Given the description of an element on the screen output the (x, y) to click on. 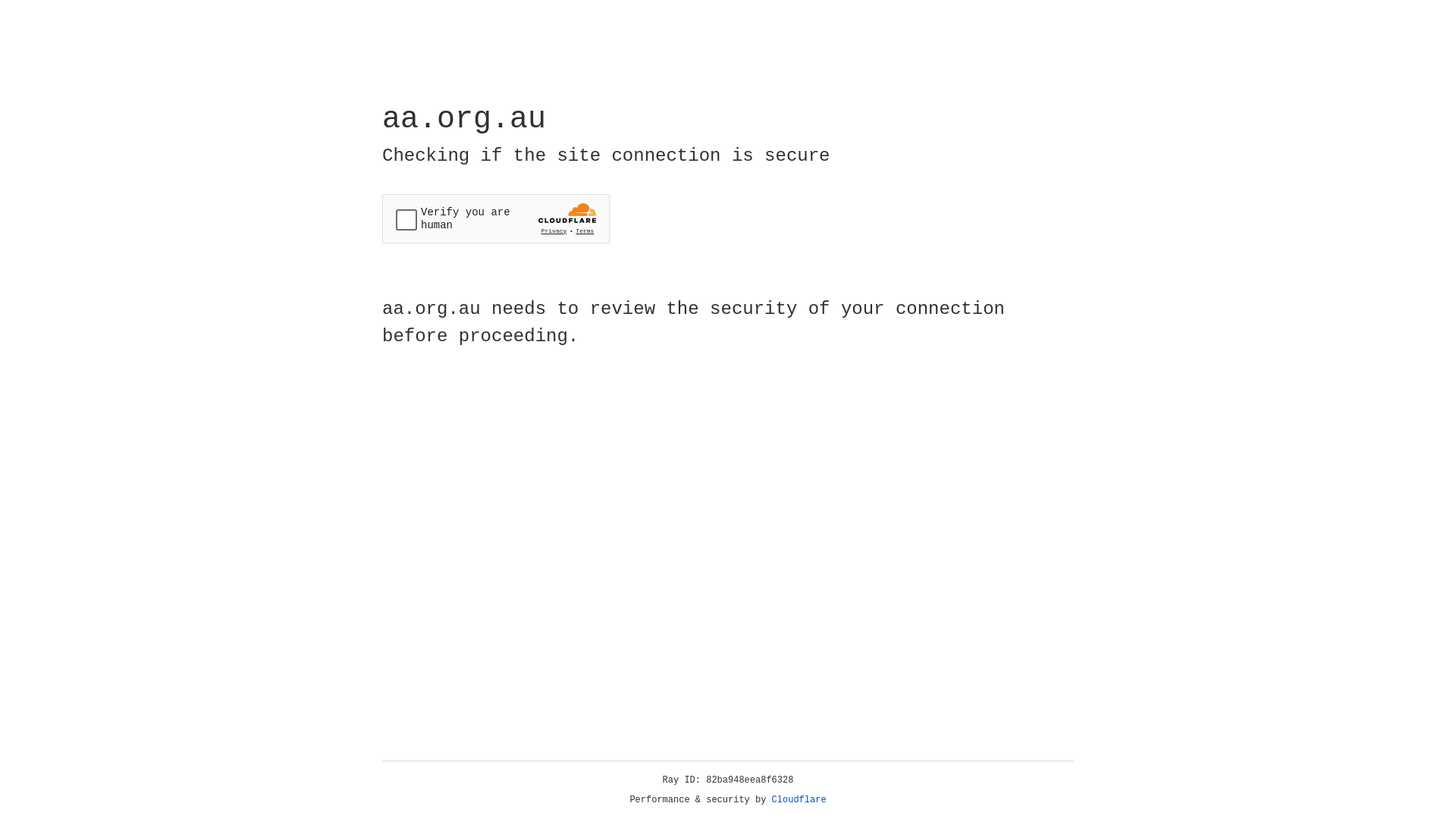
Widget containing a Cloudflare security challenge Element type: hover (495, 218)
Cloudflare Element type: text (798, 799)
